Given the description of an element on the screen output the (x, y) to click on. 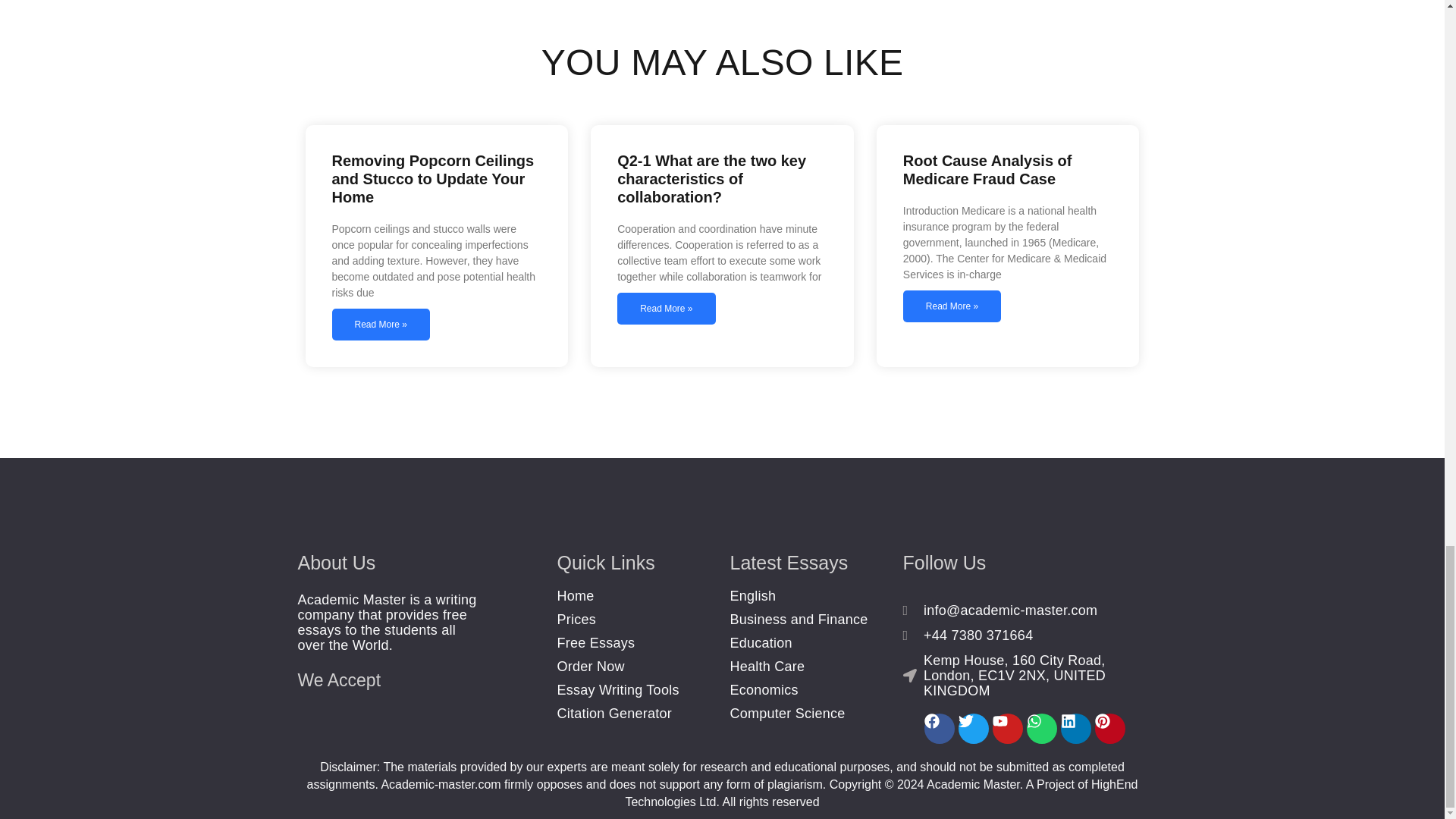
Removing Popcorn Ceilings and Stucco to Update Your Home (432, 178)
Q2-1 What are the two key characteristics of collaboration? (711, 178)
